Given the description of an element on the screen output the (x, y) to click on. 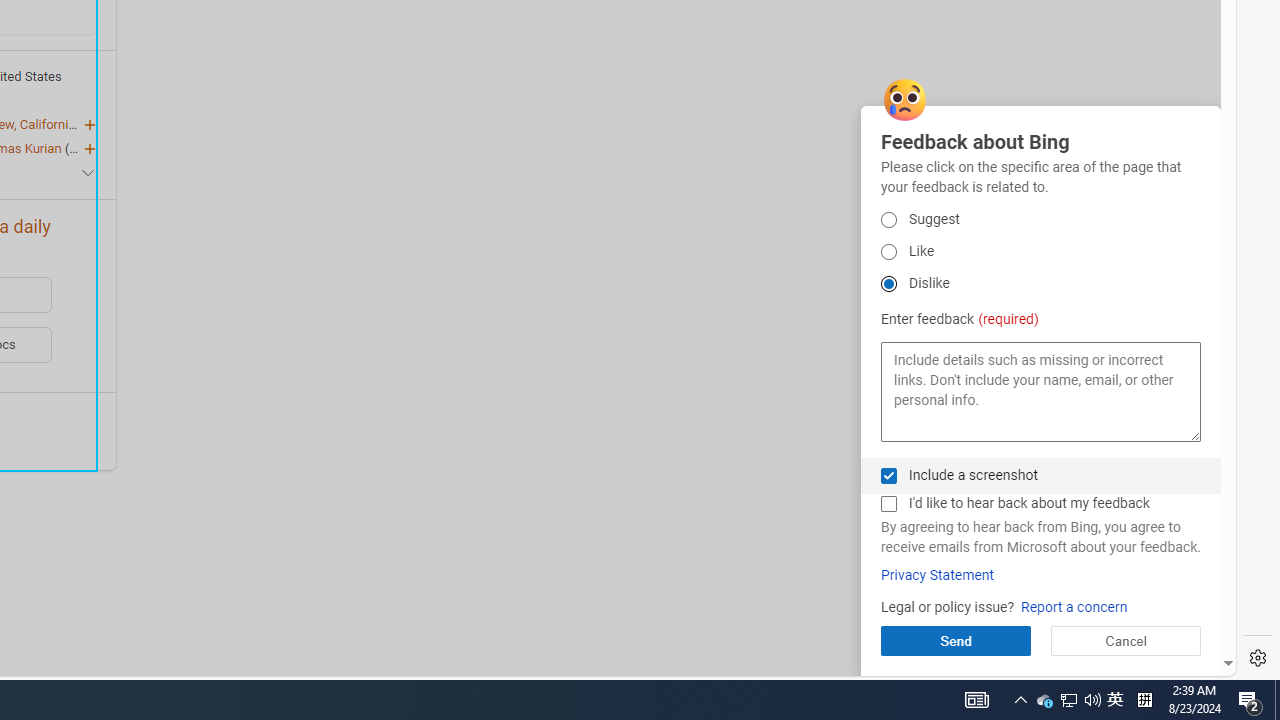
Report a concern (1074, 607)
Include a screenshot (888, 475)
Send (955, 640)
Privacy Statement (937, 575)
Cancel (1125, 640)
I'd like to hear back about my feedback (888, 503)
Suggest (888, 219)
